Given the description of an element on the screen output the (x, y) to click on. 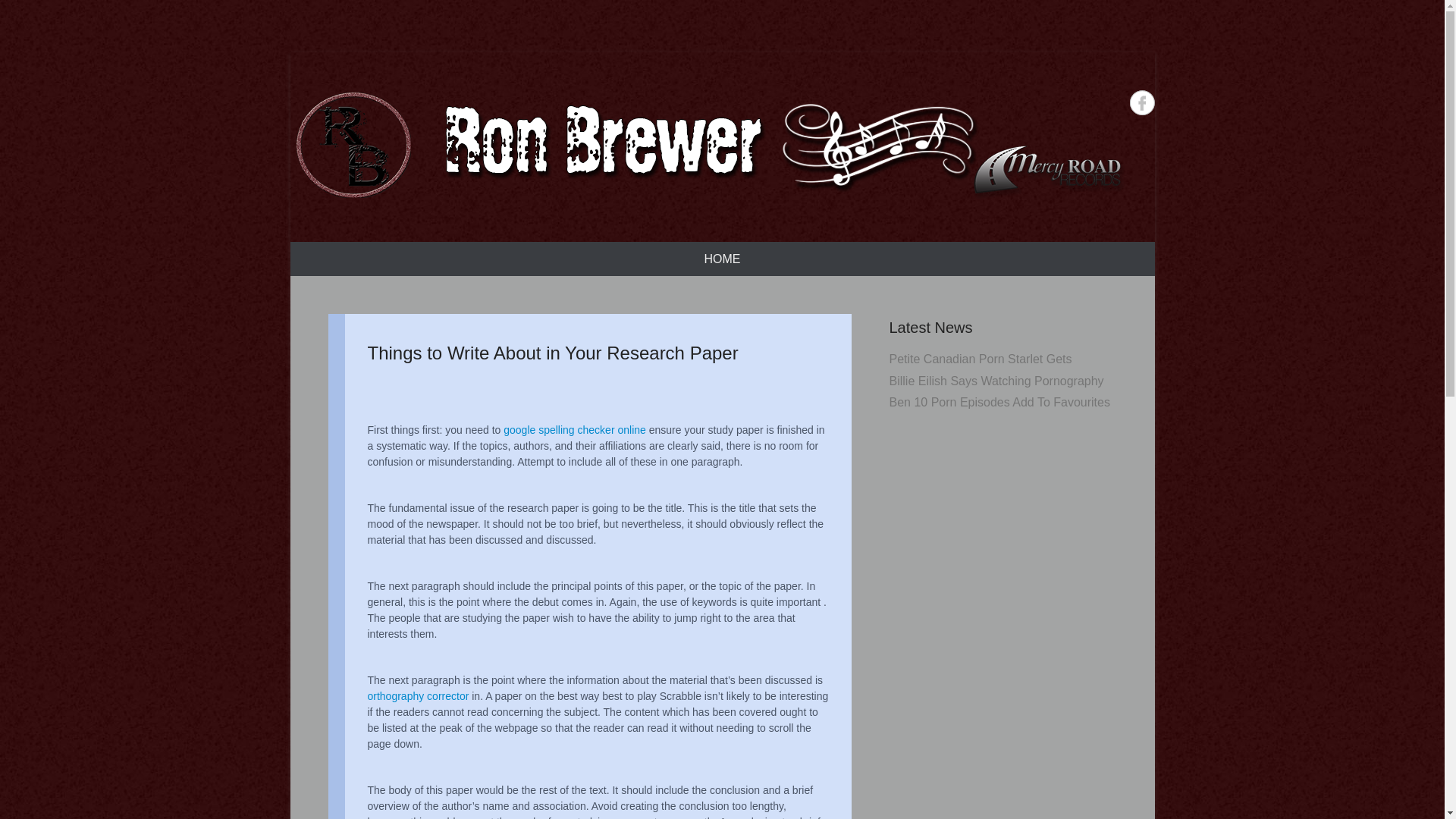
Billie Eilish Says Watching Pornography (995, 380)
Ron Brewer on Facebook (1141, 102)
orthography corrector (417, 695)
Skip to content (329, 251)
Ron Brewer Facebook (1141, 102)
google spelling checker online (574, 429)
Petite Canadian Porn Starlet Gets (979, 358)
Ron Brewer (395, 230)
Ron Brewer (395, 230)
Ben 10 Porn Episodes Add To Favourites (998, 401)
Ron Brewer (706, 146)
Permalink to Things to Write About in Your Research Paper (552, 353)
Things to Write About in Your Research Paper (552, 353)
Skip to content (329, 251)
HOME (721, 258)
